Given the description of an element on the screen output the (x, y) to click on. 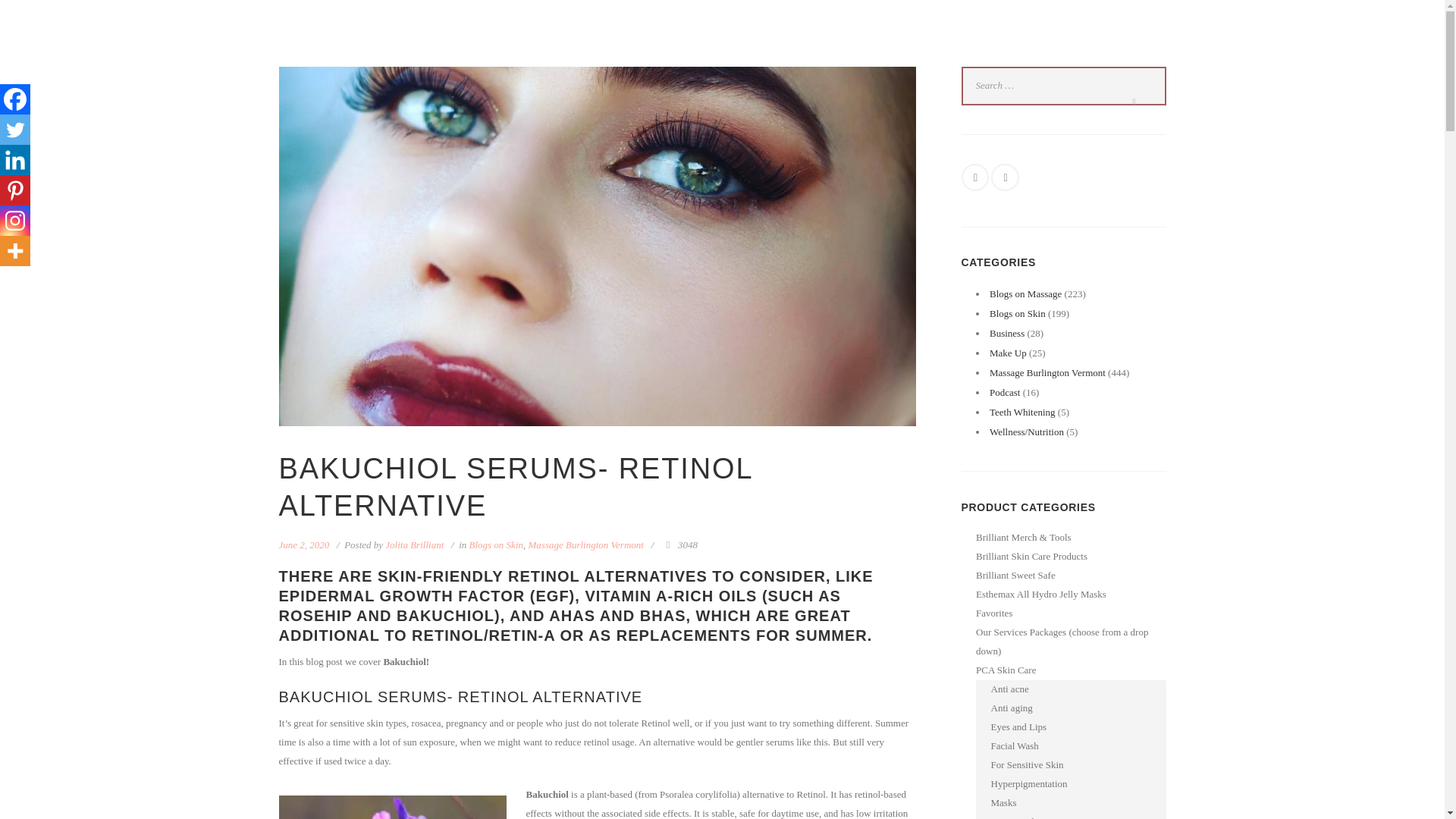
Views - 3048 (679, 545)
Instagram (15, 220)
More (15, 250)
AHAS AND BHAS (616, 615)
Search for: (1063, 85)
June 2, 2020 (304, 544)
Facebook (15, 99)
Massage Burlington Vermont (585, 544)
Blogs on Skin (495, 544)
Jolita Brilliant (414, 544)
Pinterest (15, 190)
Linkedin (15, 159)
Twitter (15, 129)
